Given the description of an element on the screen output the (x, y) to click on. 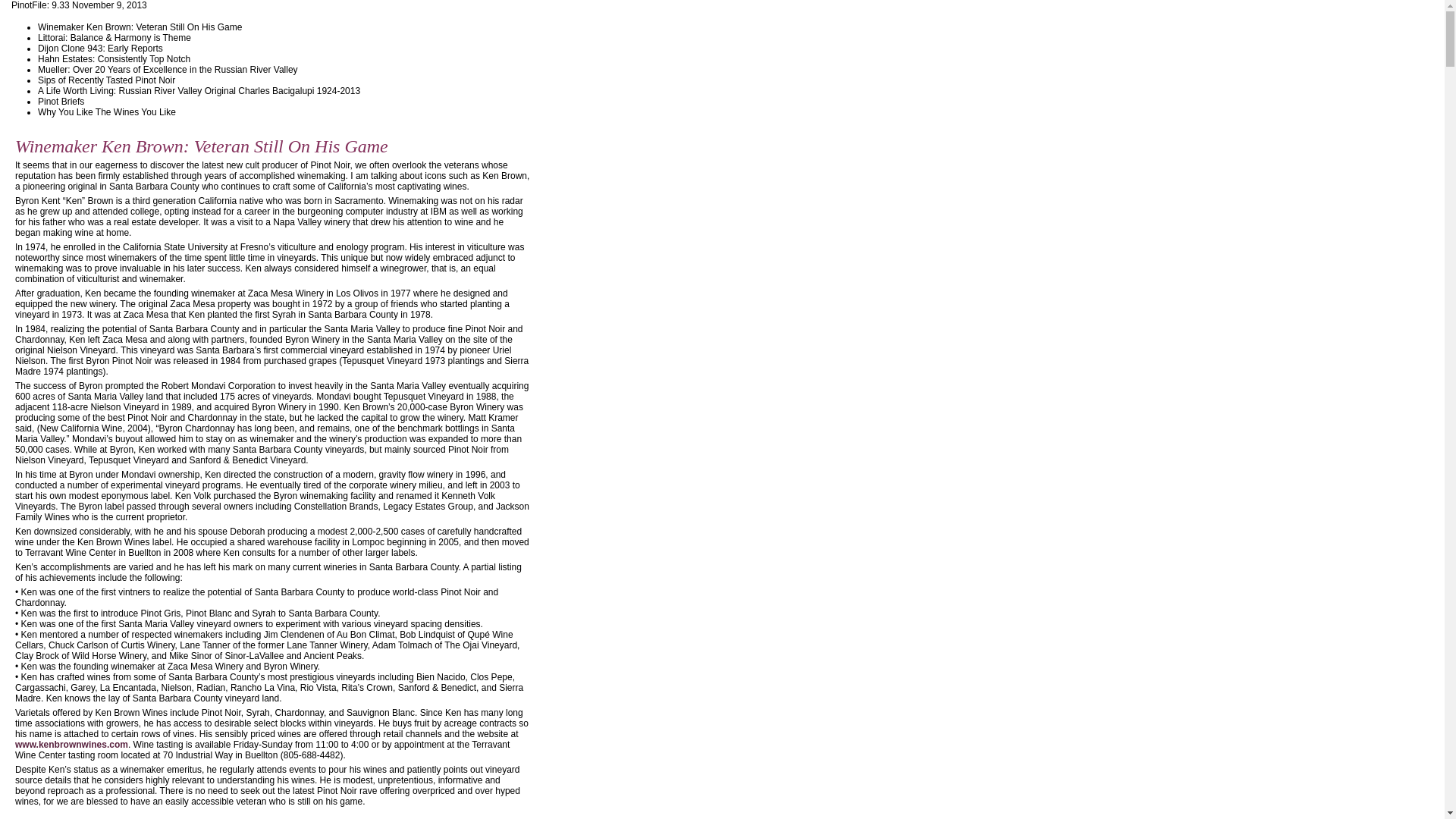
www.kenbrownwines.com (71, 744)
